Given the description of an element on the screen output the (x, y) to click on. 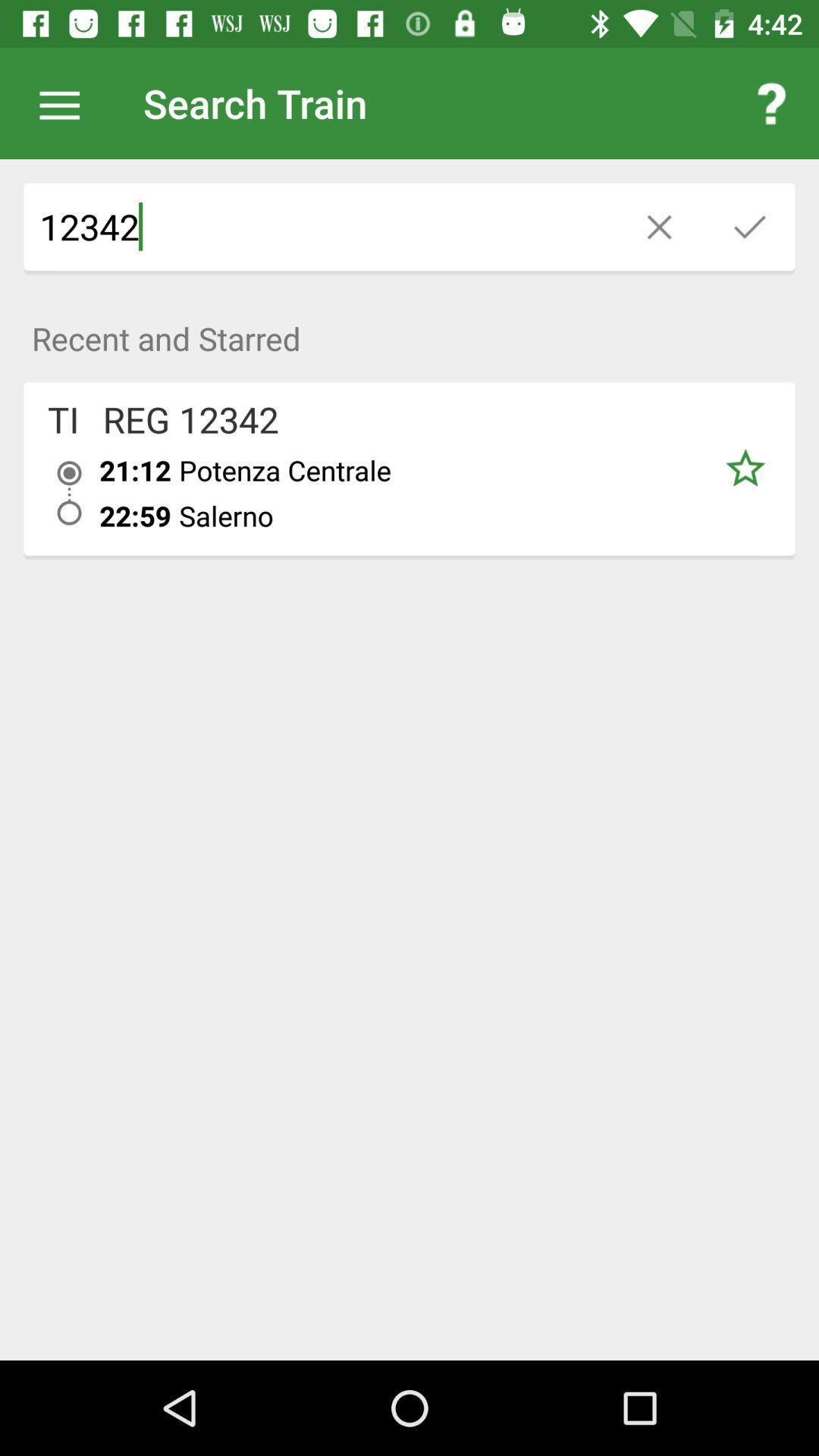
add to favorites (745, 468)
